Given the description of an element on the screen output the (x, y) to click on. 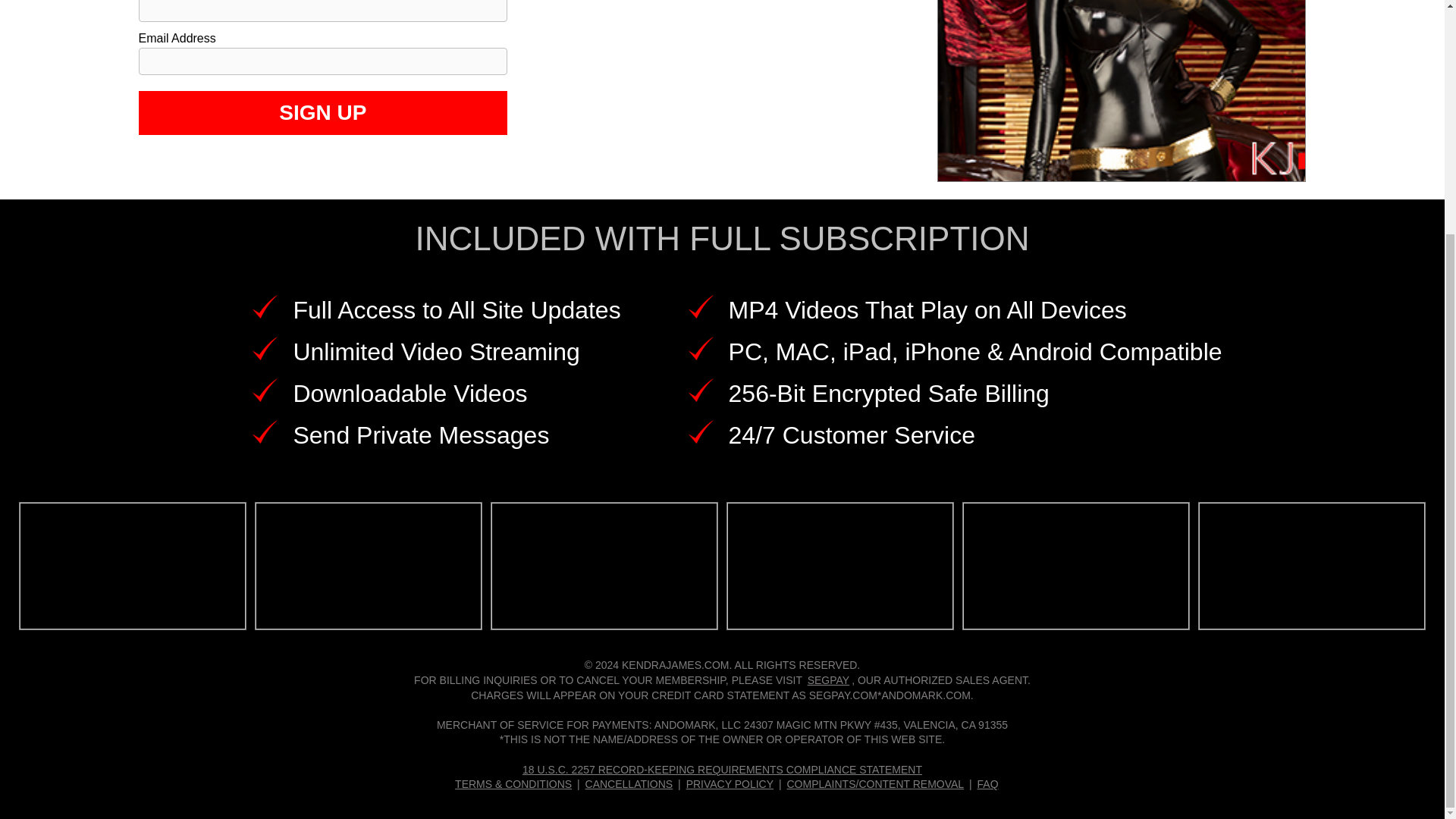
FAQ (987, 784)
PRIVACY POLICY (729, 784)
SIGN UP (322, 112)
CANCELLATIONS (628, 784)
SEGPAY (829, 680)
SIGN UP (322, 112)
